Given the description of an element on the screen output the (x, y) to click on. 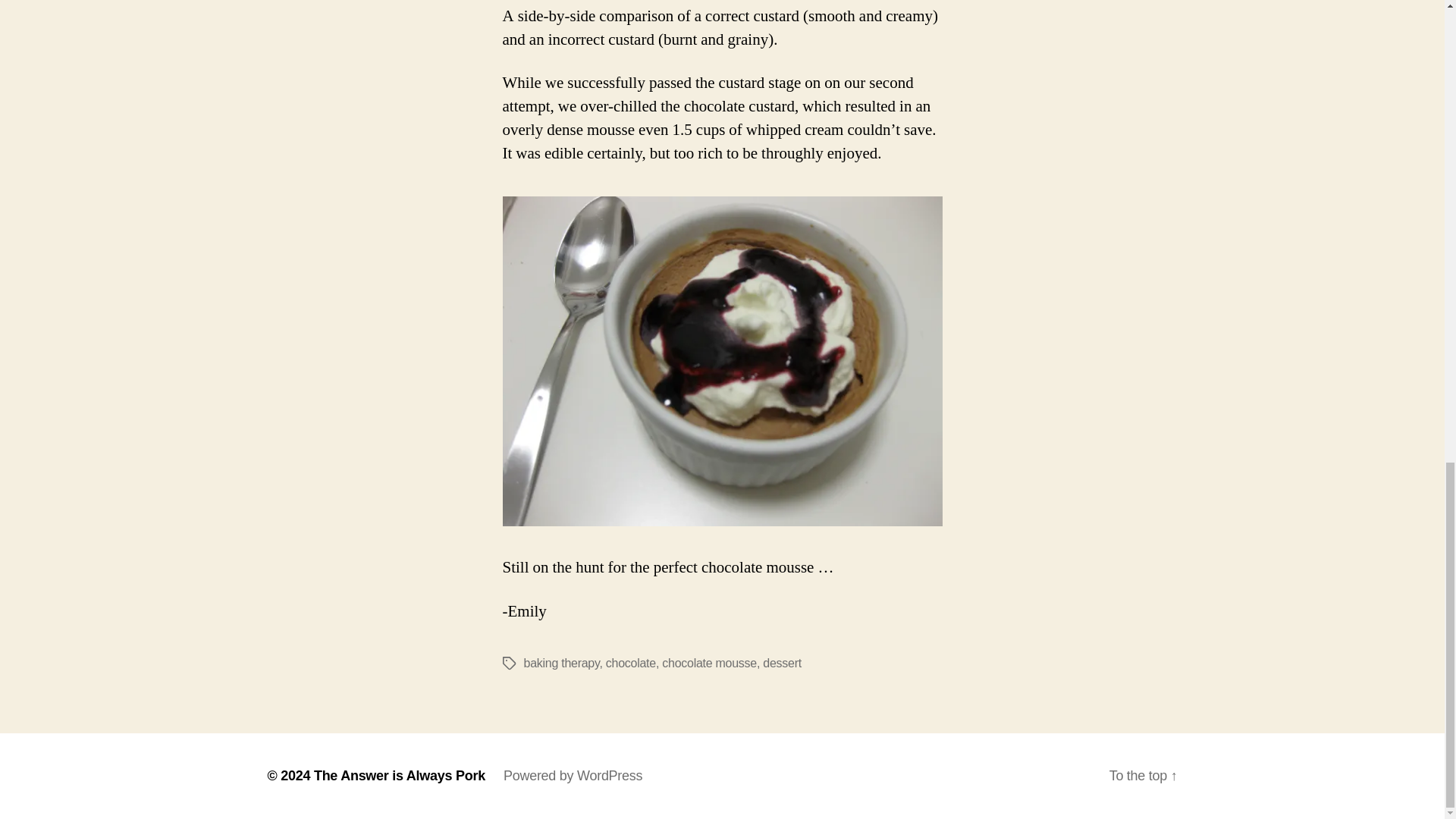
Powered by WordPress (572, 775)
chocolate mousse (709, 662)
chocolate (630, 662)
baking therapy (560, 662)
The Answer is Always Pork (399, 775)
dessert (782, 662)
